Given the description of an element on the screen output the (x, y) to click on. 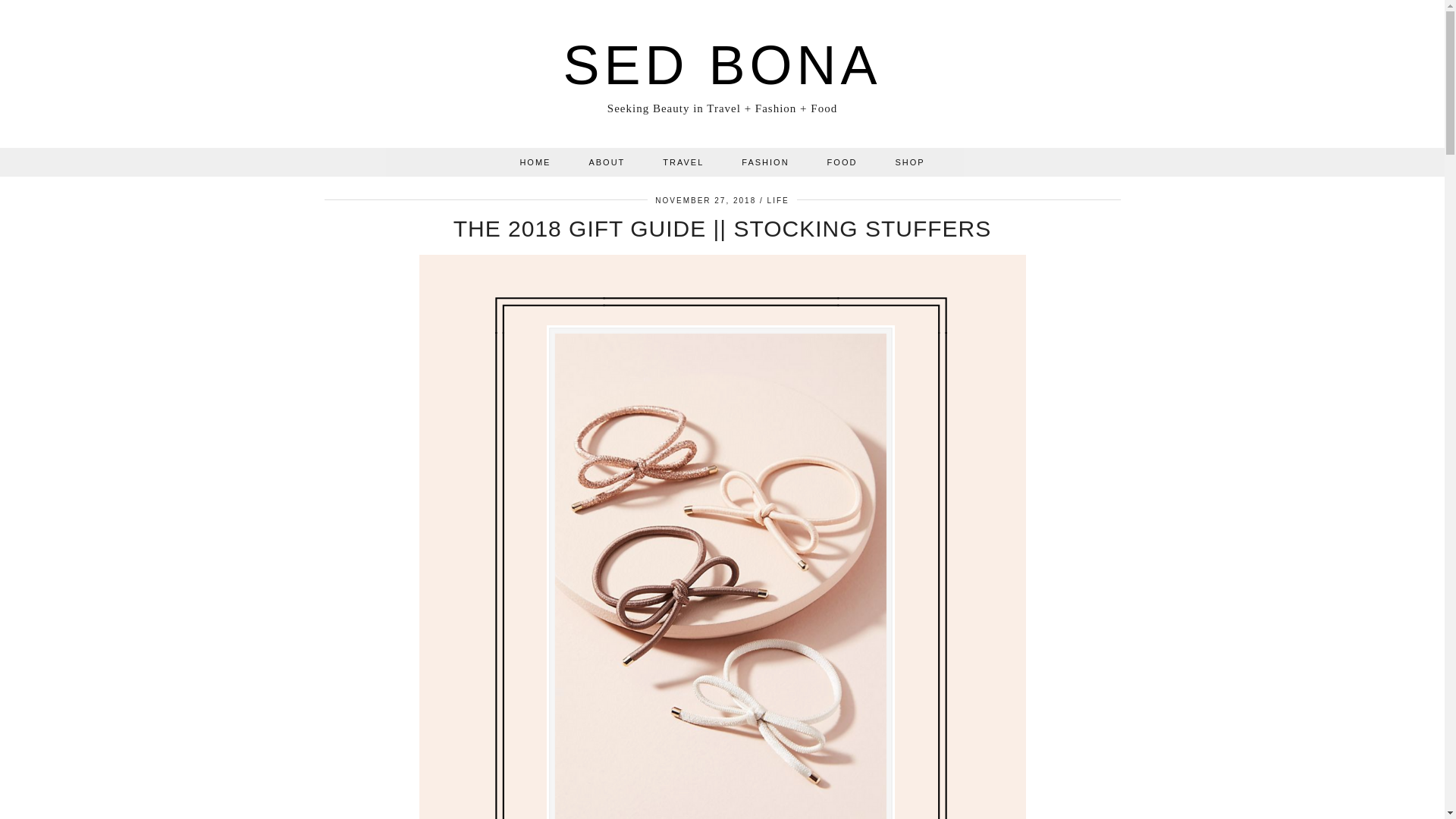
Sed Bona (721, 65)
